Given the description of an element on the screen output the (x, y) to click on. 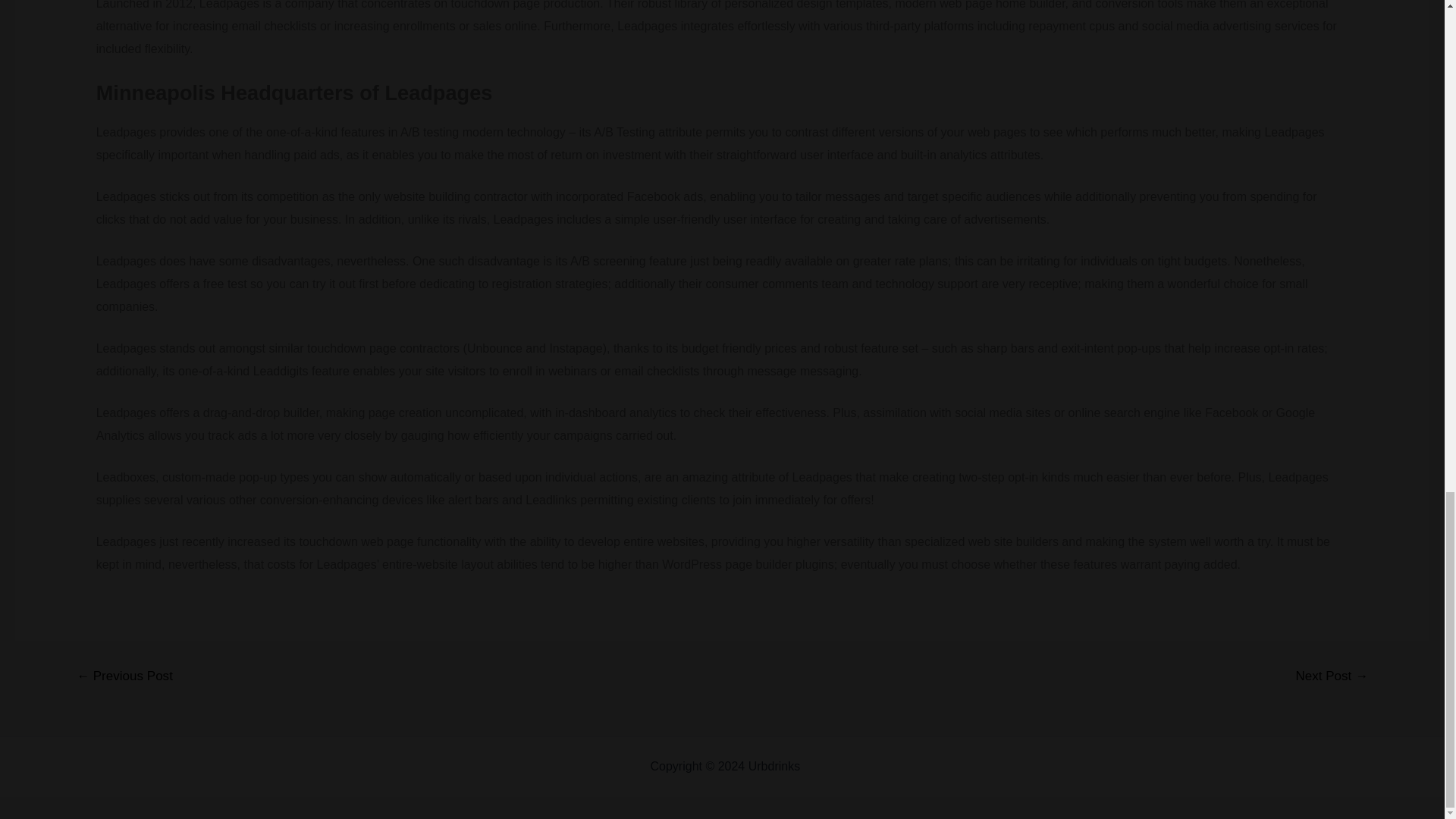
Sitemap (825, 766)
